Given the description of an element on the screen output the (x, y) to click on. 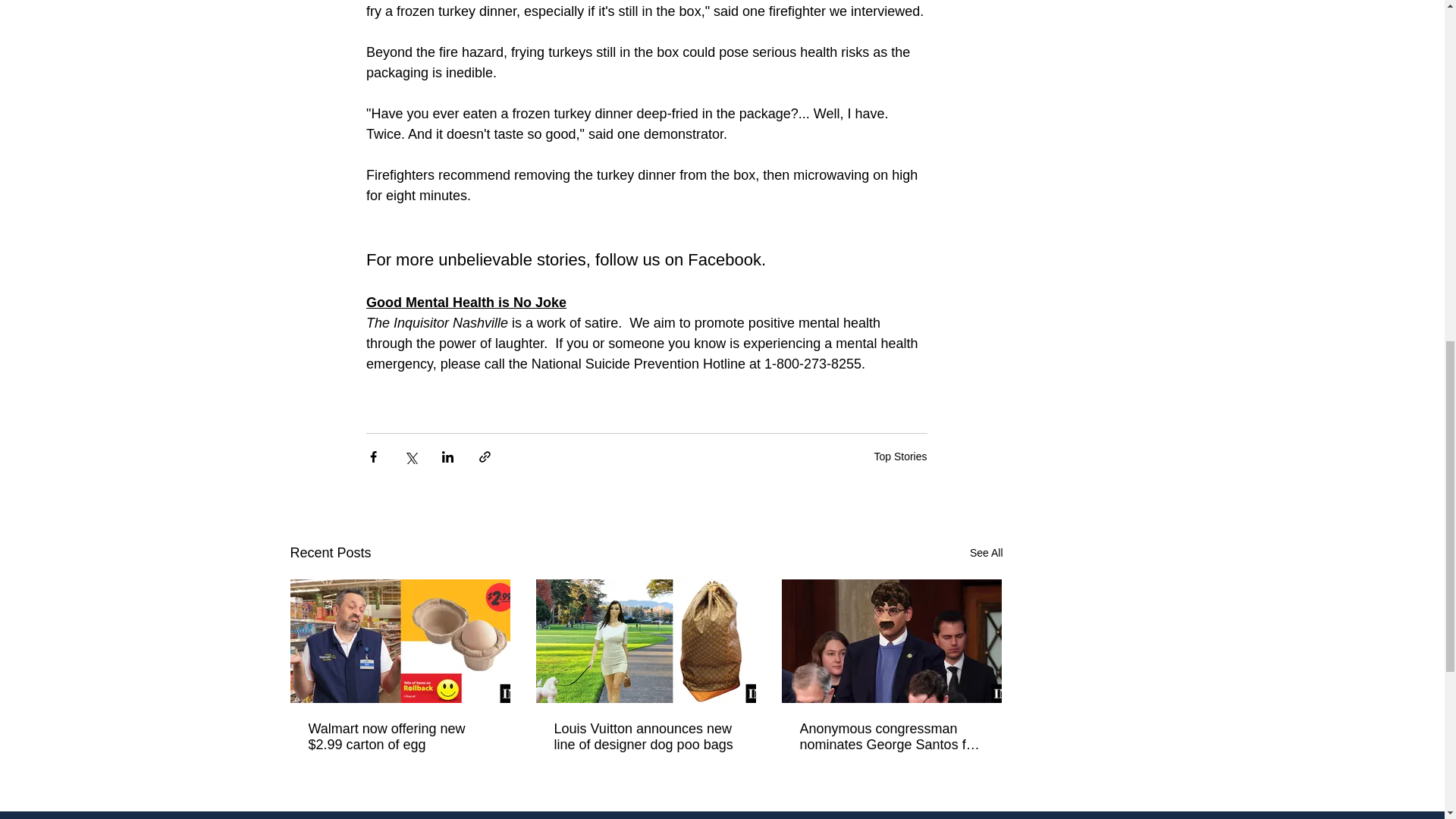
Louis Vuitton announces new line of designer dog poo bags (644, 736)
See All (986, 553)
Top Stories (899, 456)
